Given the description of an element on the screen output the (x, y) to click on. 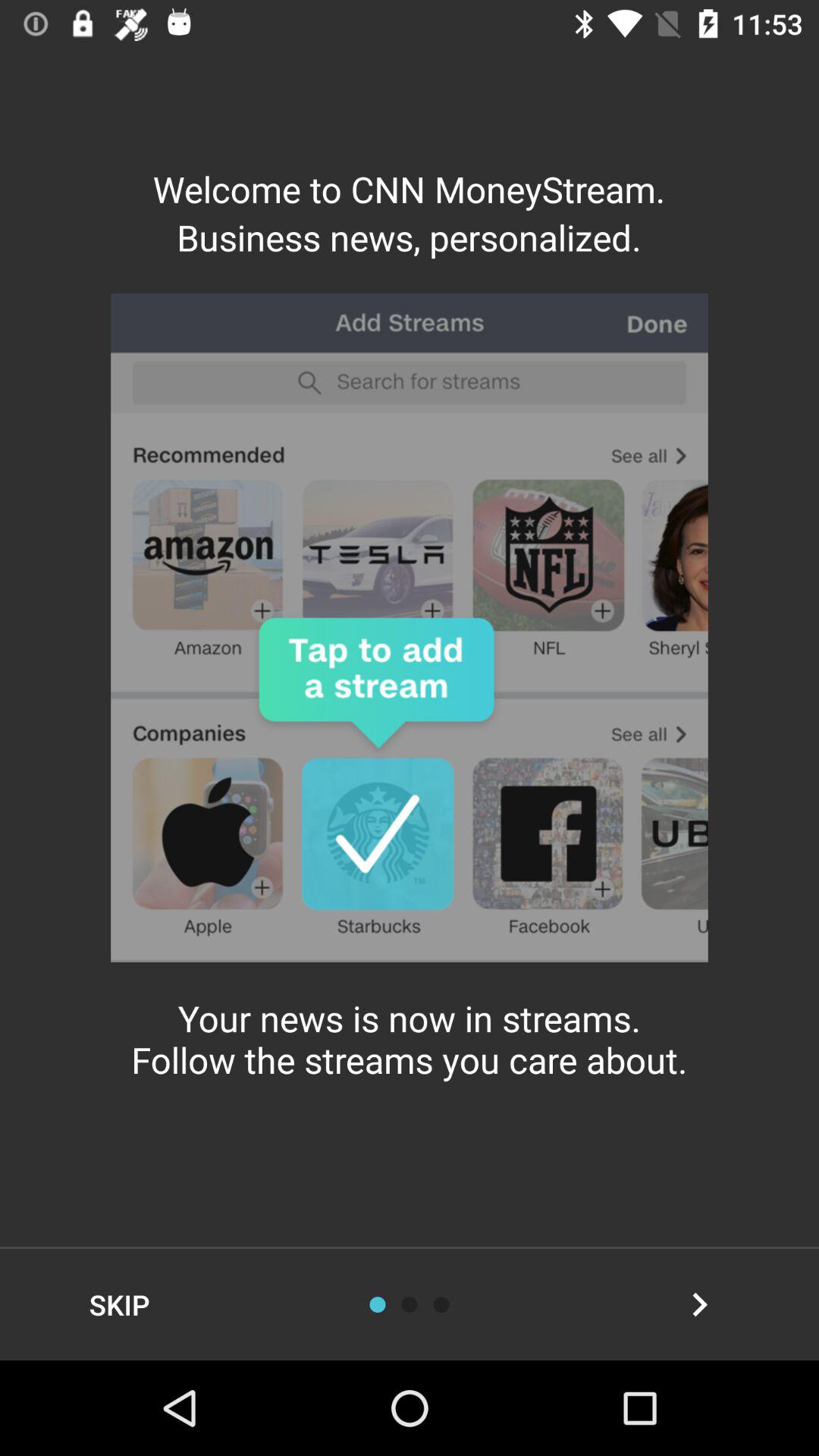
launch skip item (119, 1304)
